Given the description of an element on the screen output the (x, y) to click on. 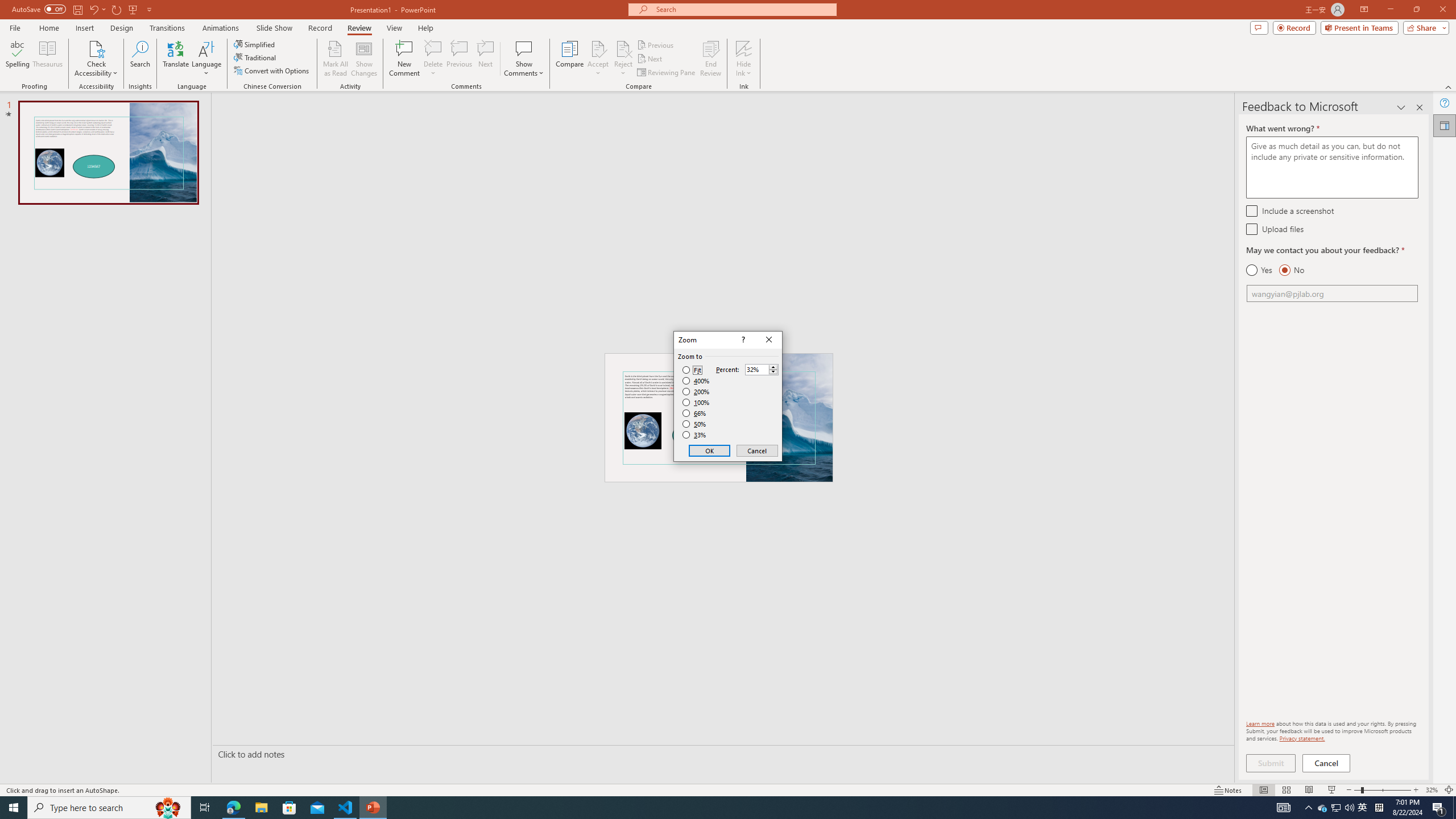
Less (772, 372)
Show Comments (524, 58)
50% (694, 424)
OK (709, 450)
Learn more (1260, 723)
Percent (756, 369)
Mark All as Read (335, 58)
Convert with Options... (272, 69)
Previous (655, 44)
Show Changes (363, 58)
Accept (598, 58)
